Given the description of an element on the screen output the (x, y) to click on. 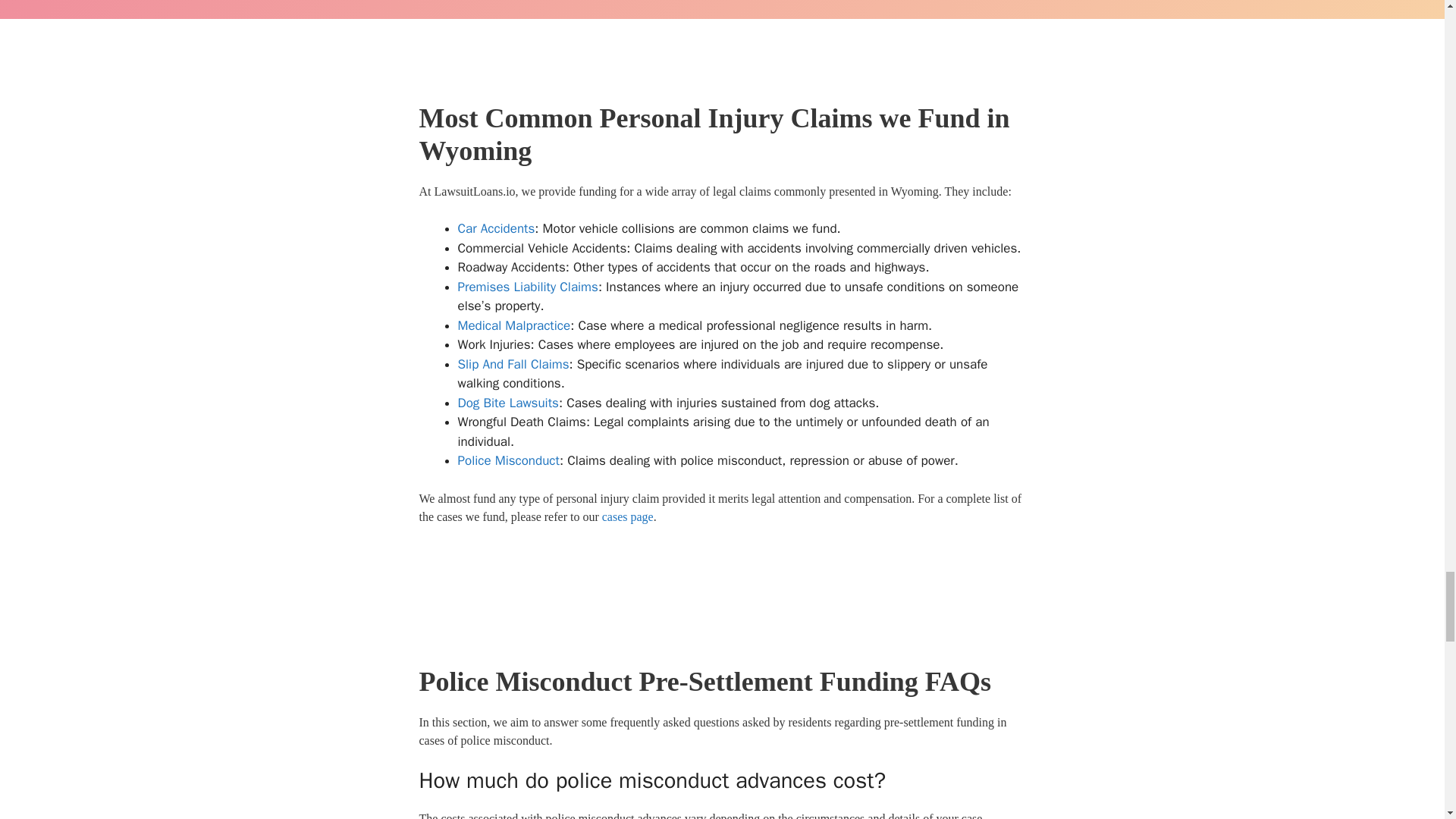
cases page (627, 516)
Medical Malpractice (514, 325)
Police Misconduct (508, 460)
Slip And Fall Claims (513, 364)
Premises Liability Claims (528, 286)
Car Accidents (496, 228)
Dog Bite Lawsuits (508, 402)
